Given the description of an element on the screen output the (x, y) to click on. 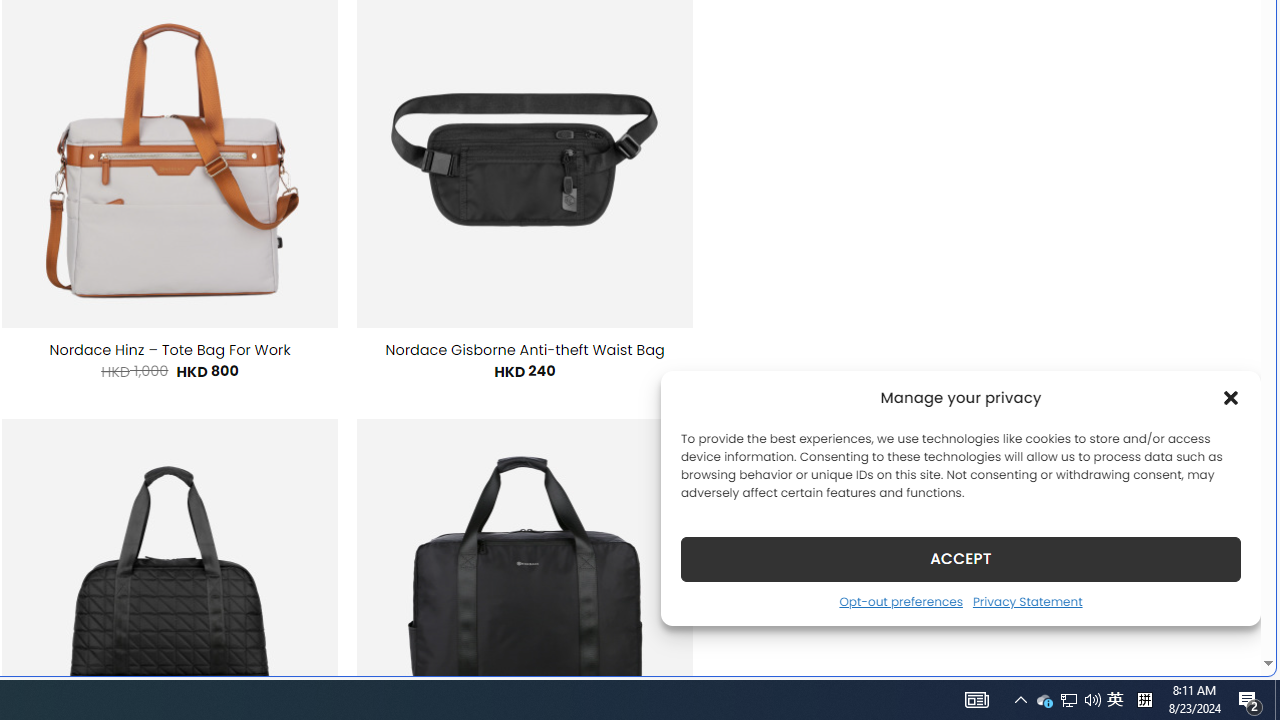
Privacy Statement (1026, 601)
Opt-out preferences (900, 601)
Nordace Gisborne Anti-theft Waist Bag (525, 350)
Class: cmplz-close (1231, 397)
ACCEPT (960, 558)
